Given the description of an element on the screen output the (x, y) to click on. 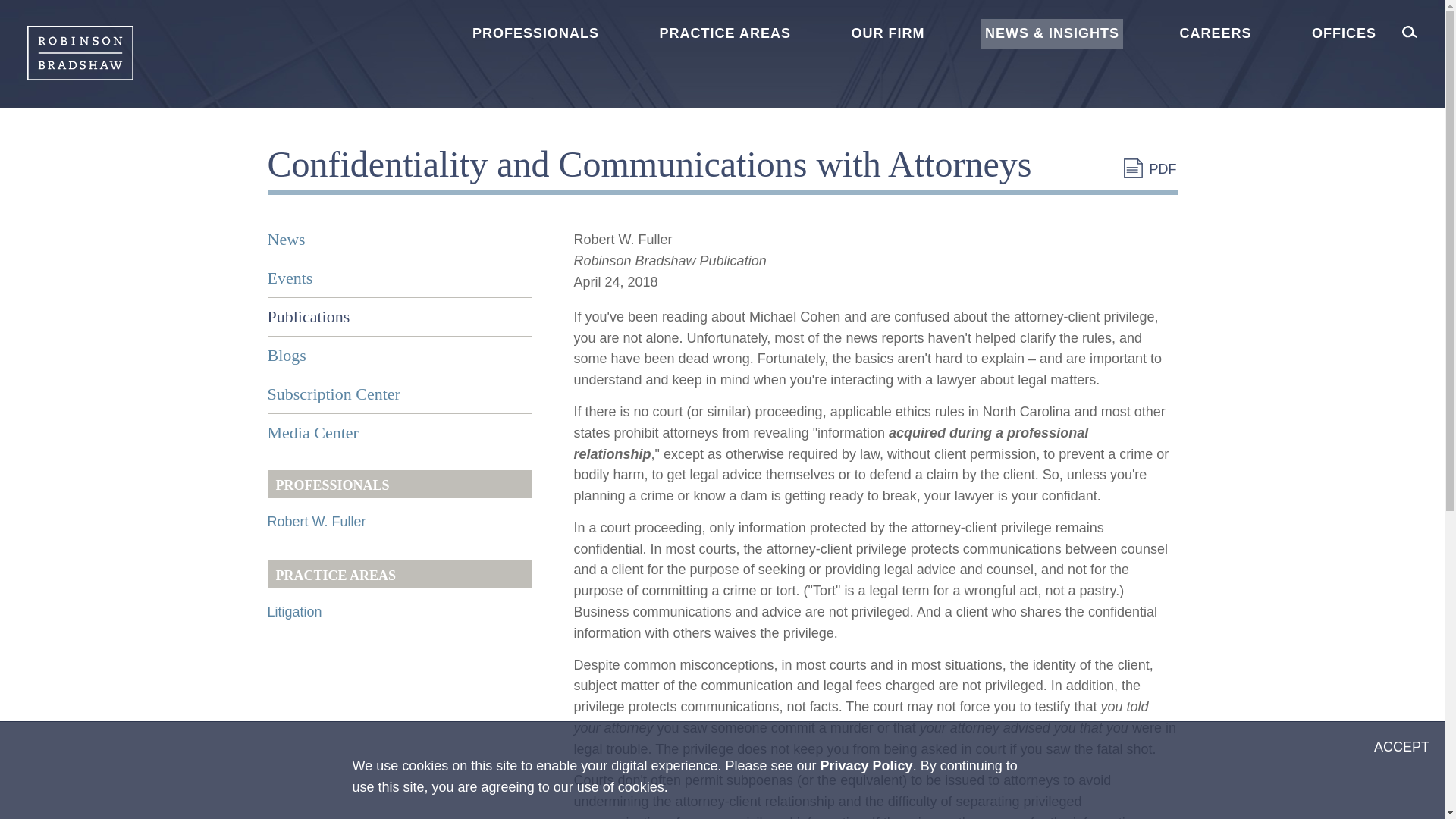
PROFESSIONALS (535, 33)
PRACTICE AREAS (725, 33)
ACCEPT (1401, 747)
Privacy Policy (866, 765)
